Given the description of an element on the screen output the (x, y) to click on. 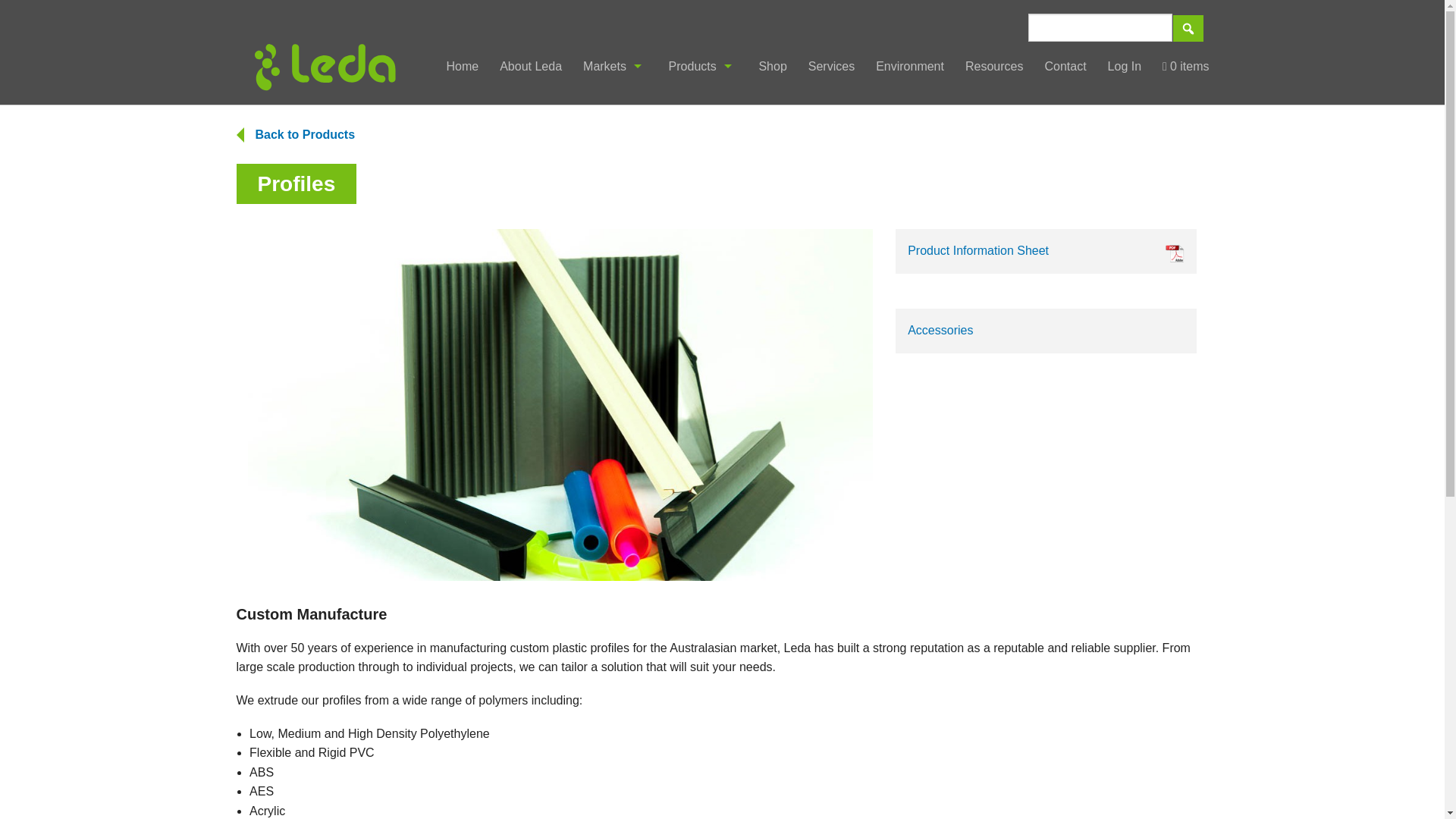
Start shopping (1185, 65)
Home (462, 65)
Tubing (703, 107)
Pipes (703, 141)
Services (830, 65)
About Leda (530, 65)
Specialist Testing (615, 244)
Cores (703, 210)
Markets (615, 65)
Shop (772, 65)
Pneumatics (615, 107)
Custom (703, 244)
Products (703, 65)
Moulding (703, 175)
